Given the description of an element on the screen output the (x, y) to click on. 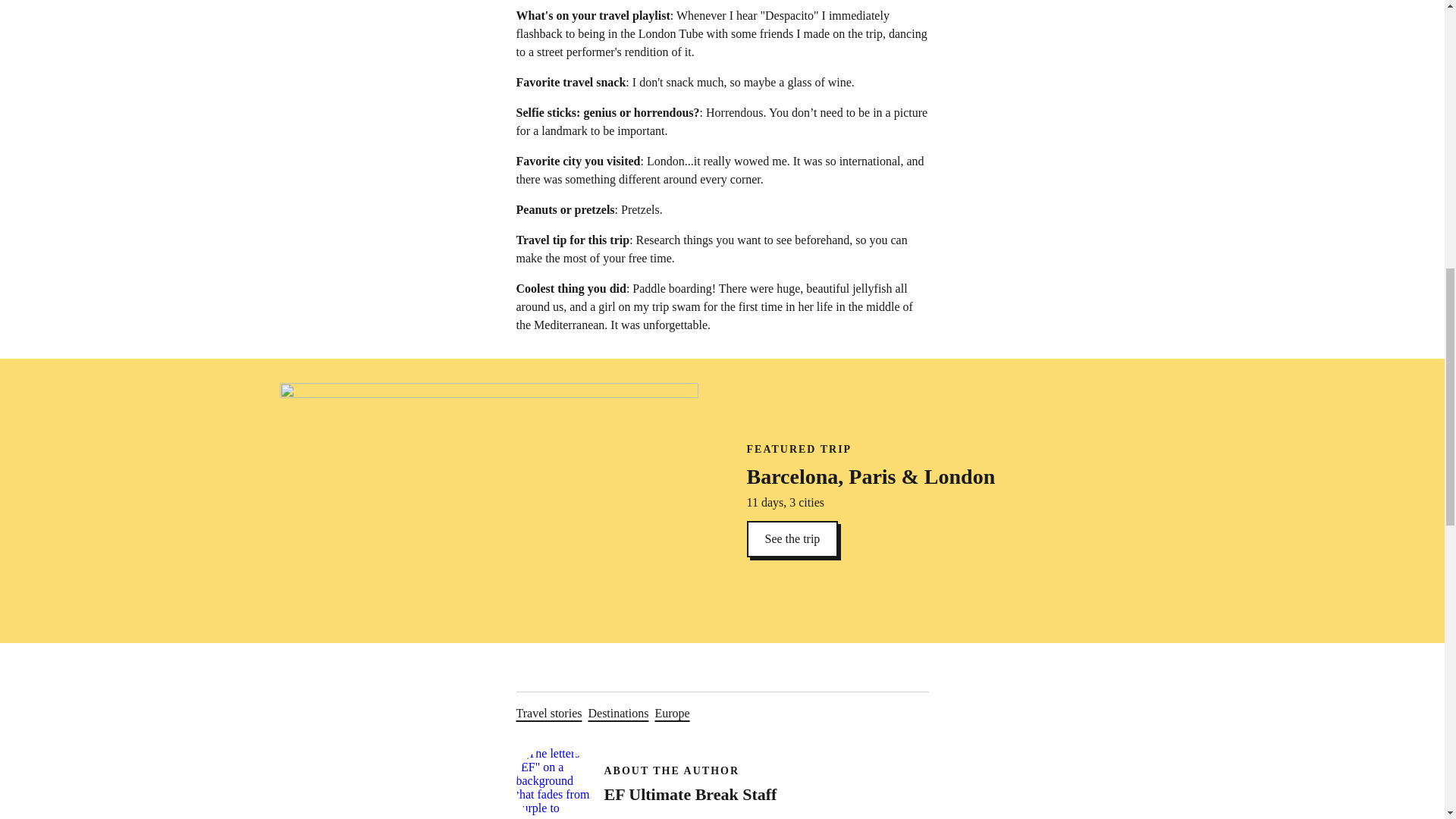
Travel stories (721, 770)
See the trip (548, 713)
Europe (791, 538)
Destinations (671, 713)
